Given the description of an element on the screen output the (x, y) to click on. 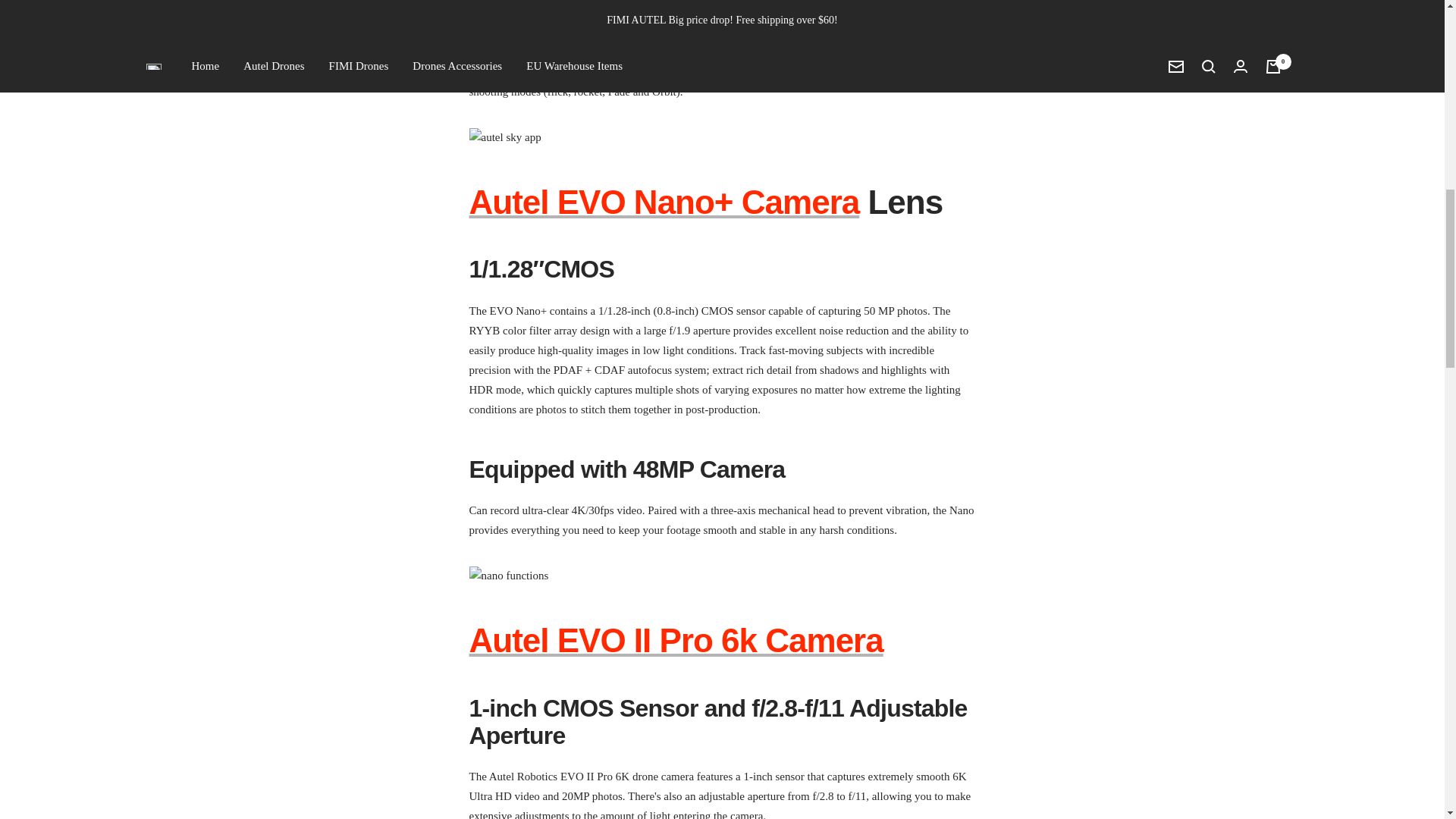
autel evo 2 6k drone (675, 640)
autel nano drone (663, 201)
